Given the description of an element on the screen output the (x, y) to click on. 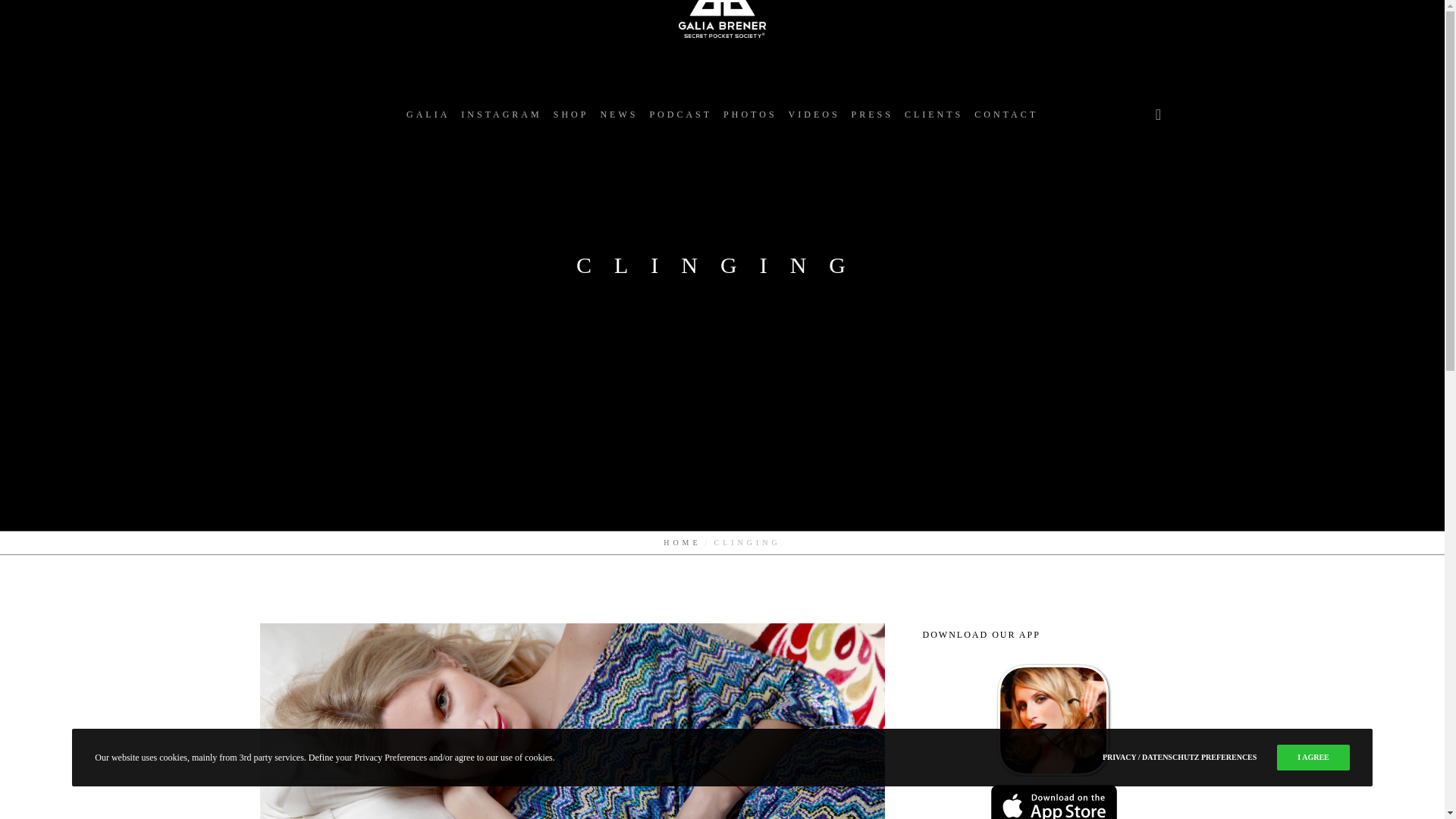
INSTAGRAM (501, 114)
PHOTOS (749, 114)
GALIA (427, 114)
HOME (681, 542)
PRESS (872, 114)
SHOP (570, 114)
CLIENTS (933, 114)
CONTACT (1006, 114)
PODCAST (680, 114)
NEWS (619, 114)
